Given the description of an element on the screen output the (x, y) to click on. 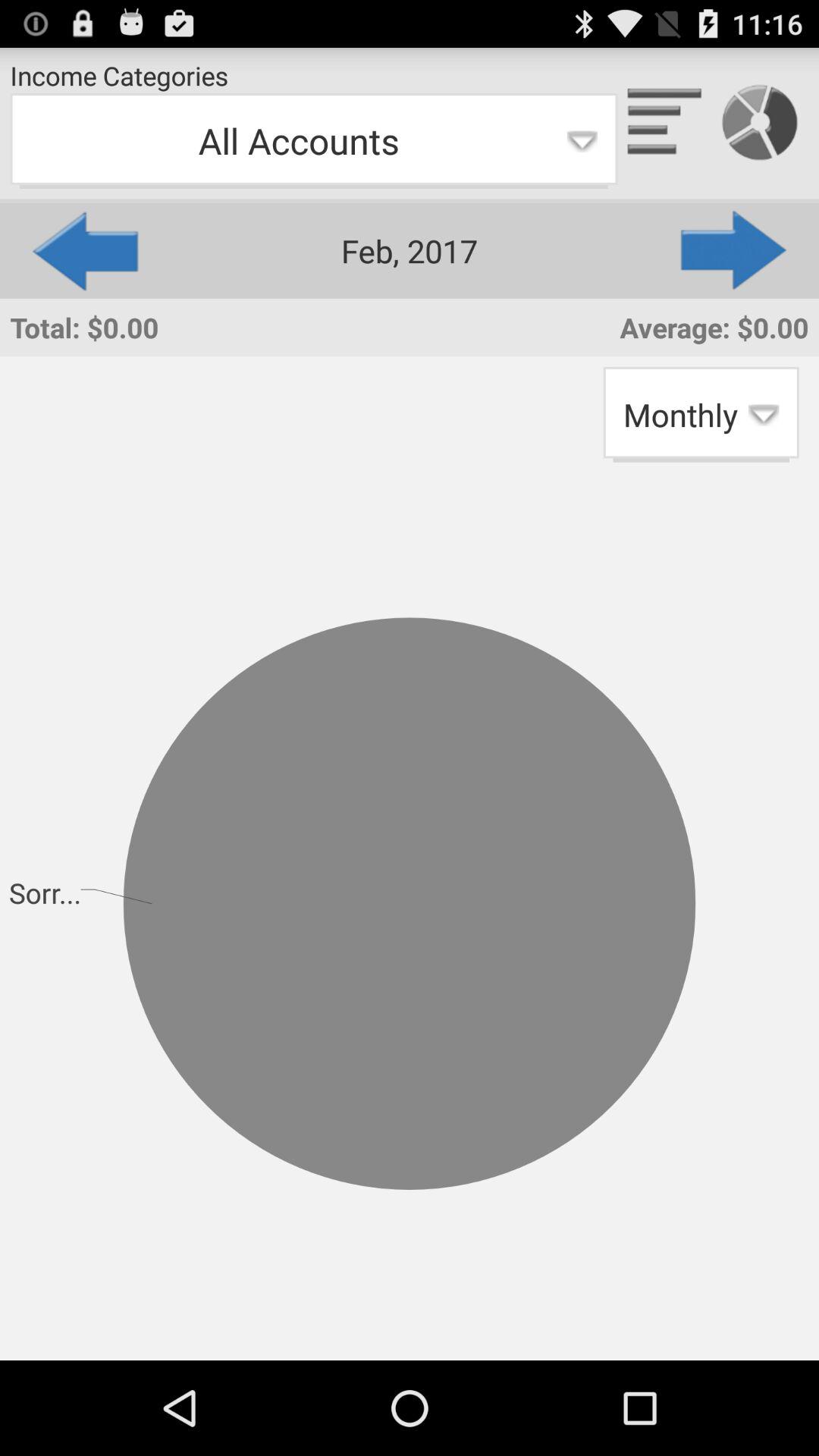
click the app above the average: $0.00 app (735, 250)
